Given the description of an element on the screen output the (x, y) to click on. 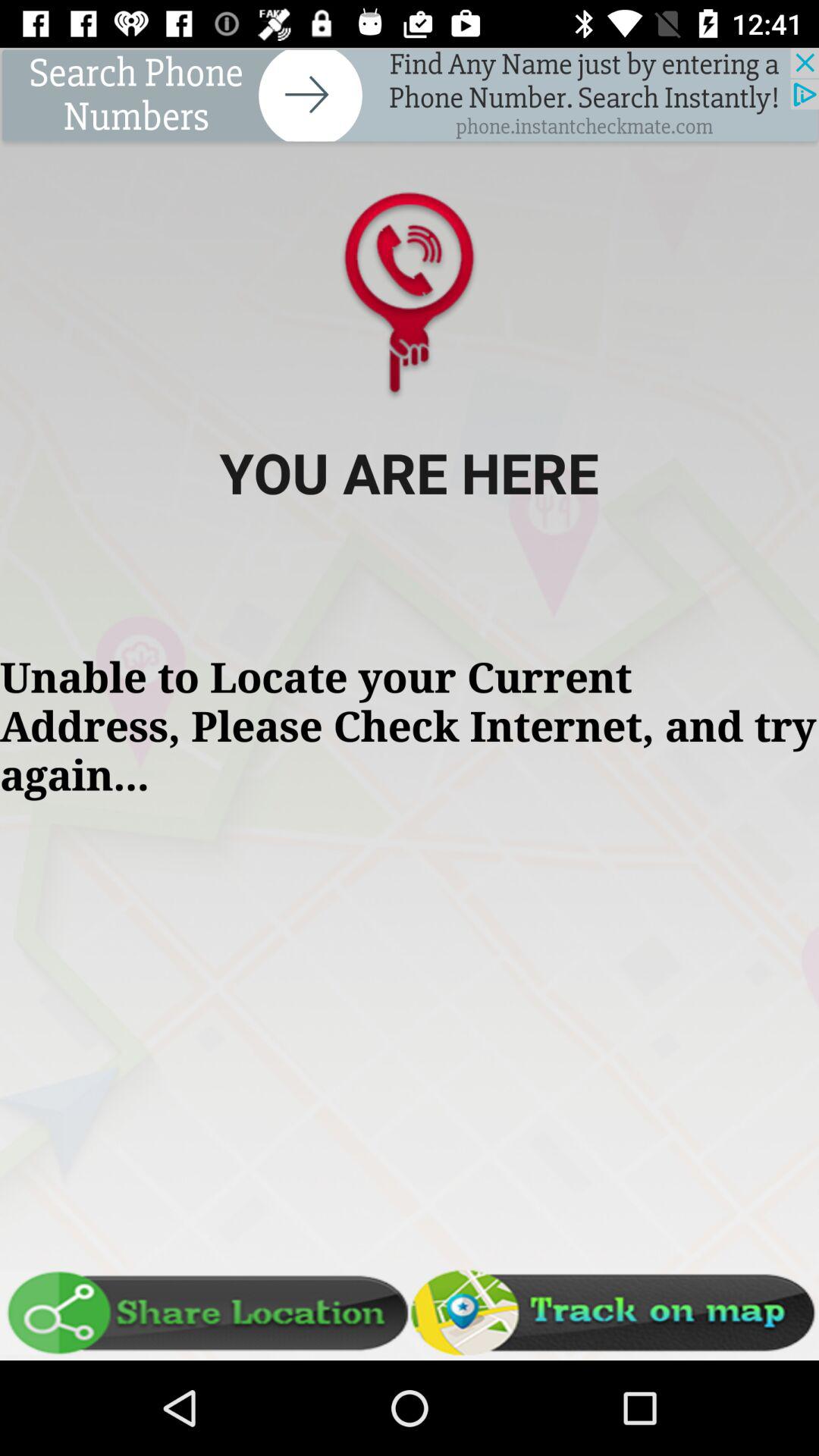
open map (614, 1312)
